Given the description of an element on the screen output the (x, y) to click on. 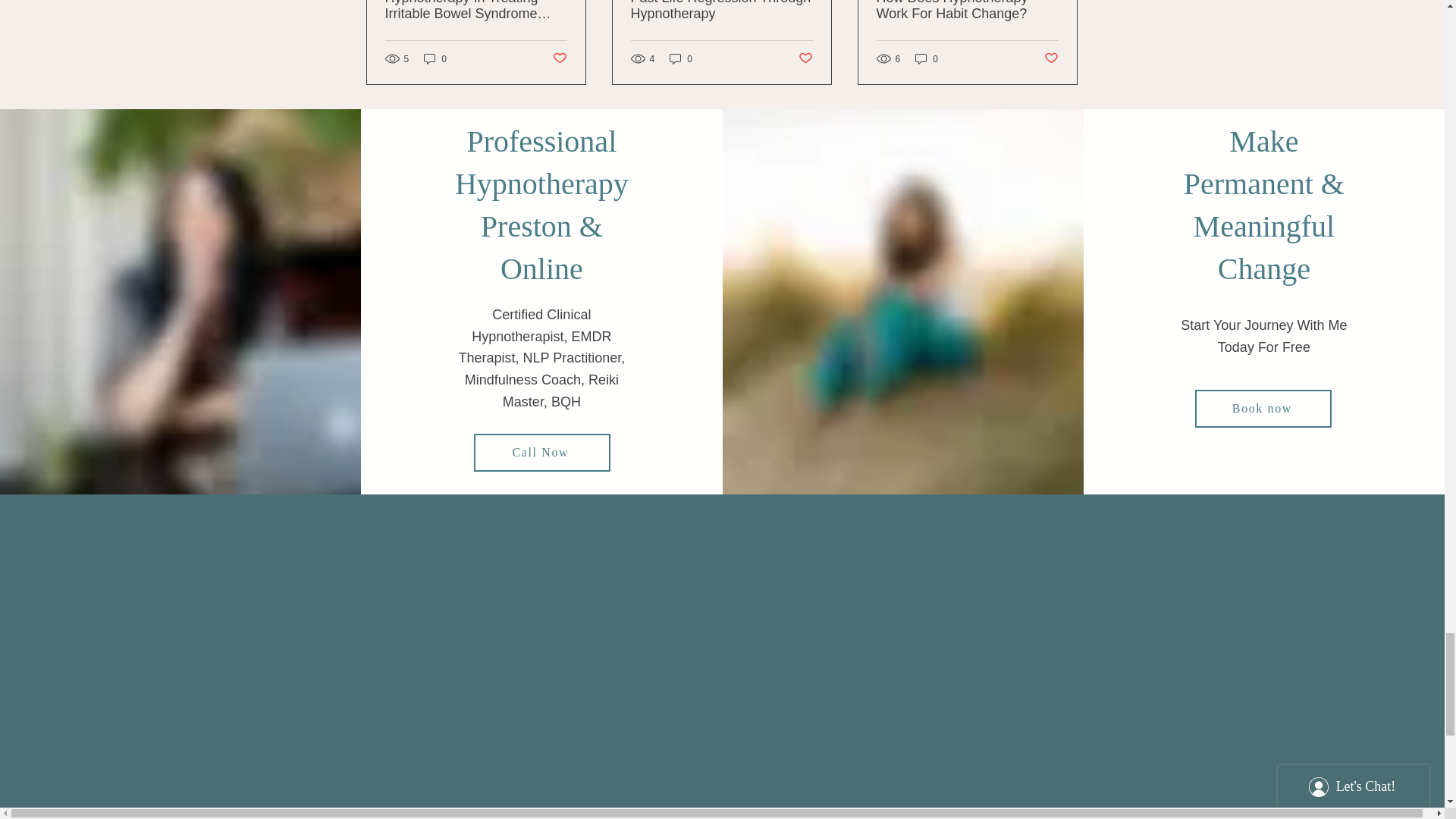
Past Life Regression Through Hypnotherapy (721, 11)
Post not marked as liked (558, 58)
0 (435, 58)
